Given the description of an element on the screen output the (x, y) to click on. 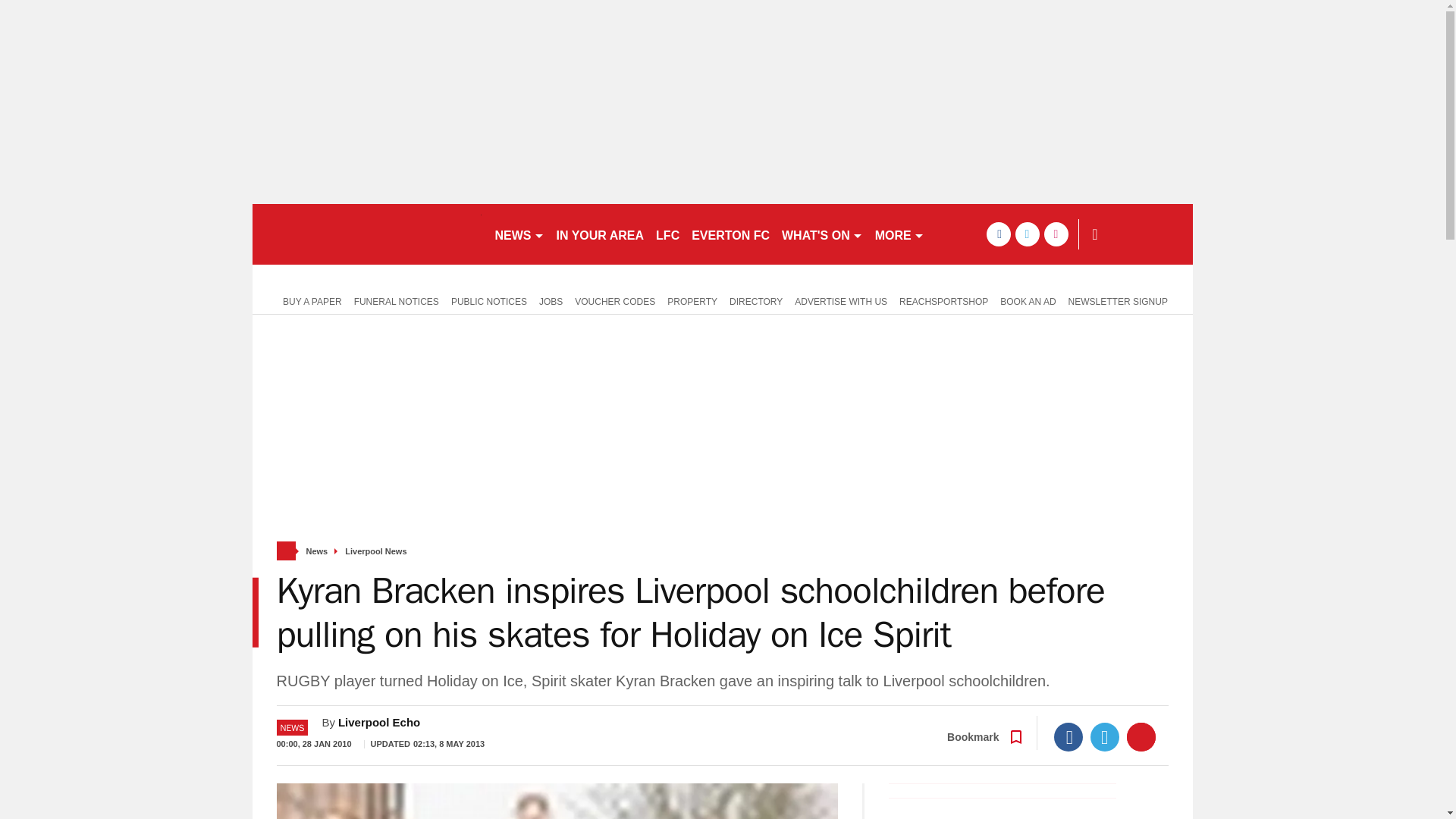
instagram (1055, 233)
facebook (997, 233)
IN YOUR AREA (600, 233)
NEWS (518, 233)
Twitter (1104, 736)
WHAT'S ON (822, 233)
Facebook (1068, 736)
liverpoolecho (365, 233)
MORE (899, 233)
twitter (1026, 233)
